Given the description of an element on the screen output the (x, y) to click on. 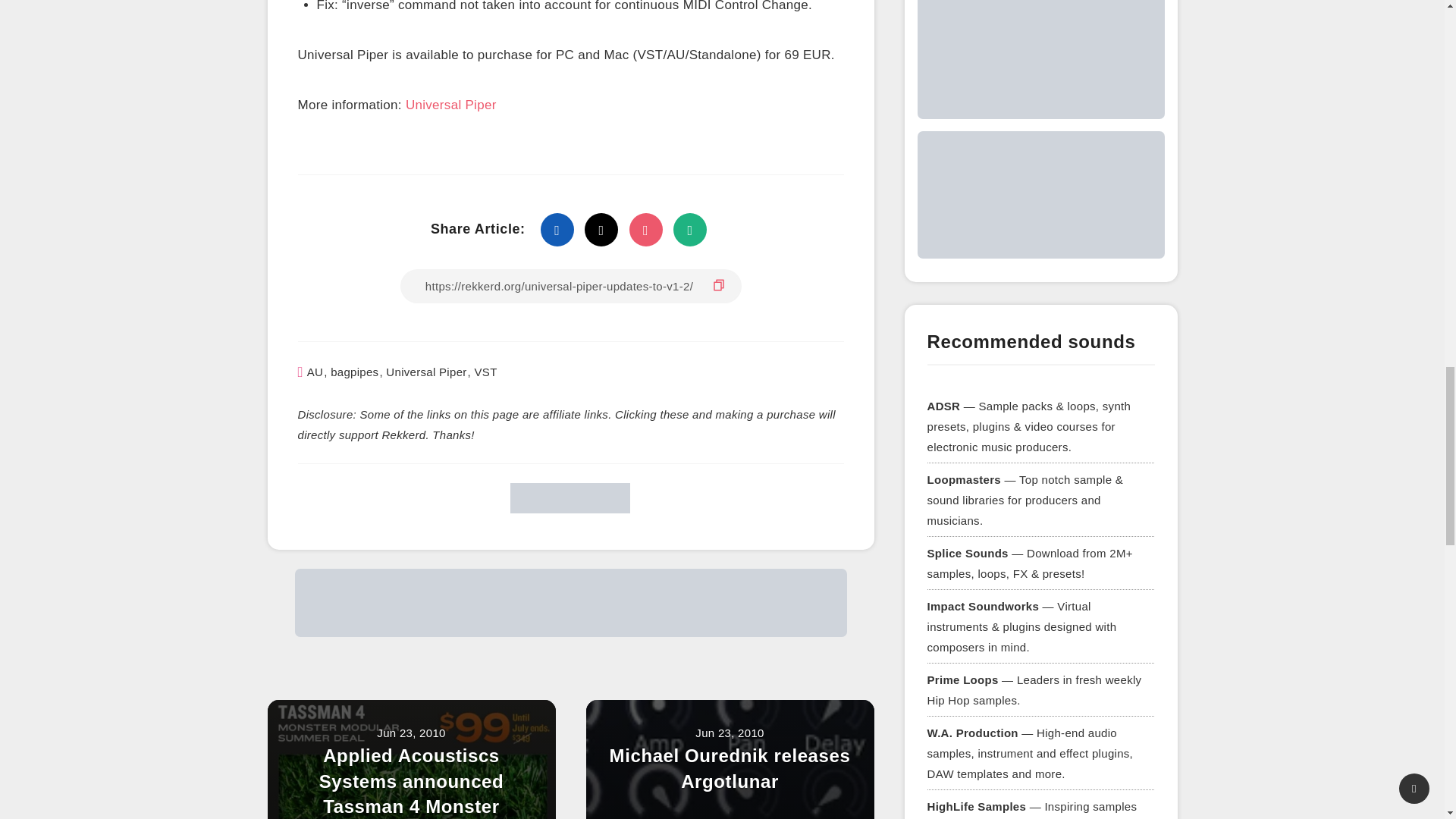
Universal Piper (425, 371)
bagpipes (354, 371)
VST (485, 371)
AU (315, 371)
Universal Piper (451, 106)
